Given the description of an element on the screen output the (x, y) to click on. 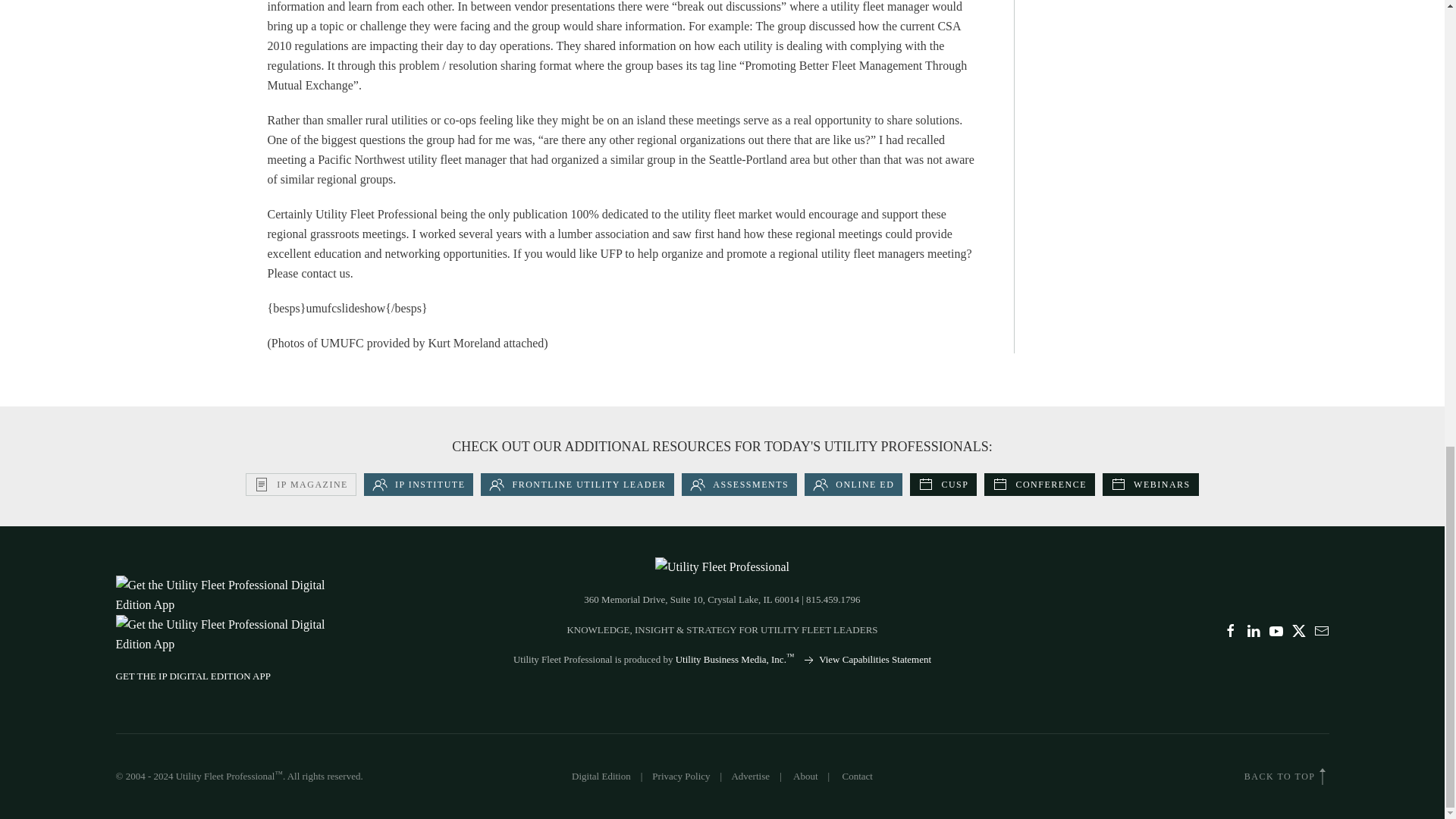
CUSP Certification (943, 484)
Incident Prevention Magazine (301, 484)
Frontline Utility Leadership Education (577, 484)
Capabilities Statement (866, 659)
Assess My Team (738, 484)
iPi Online Education (853, 484)
iP Institute (419, 484)
Frontline Microlearning Webinars (1150, 484)
